Given the description of an element on the screen output the (x, y) to click on. 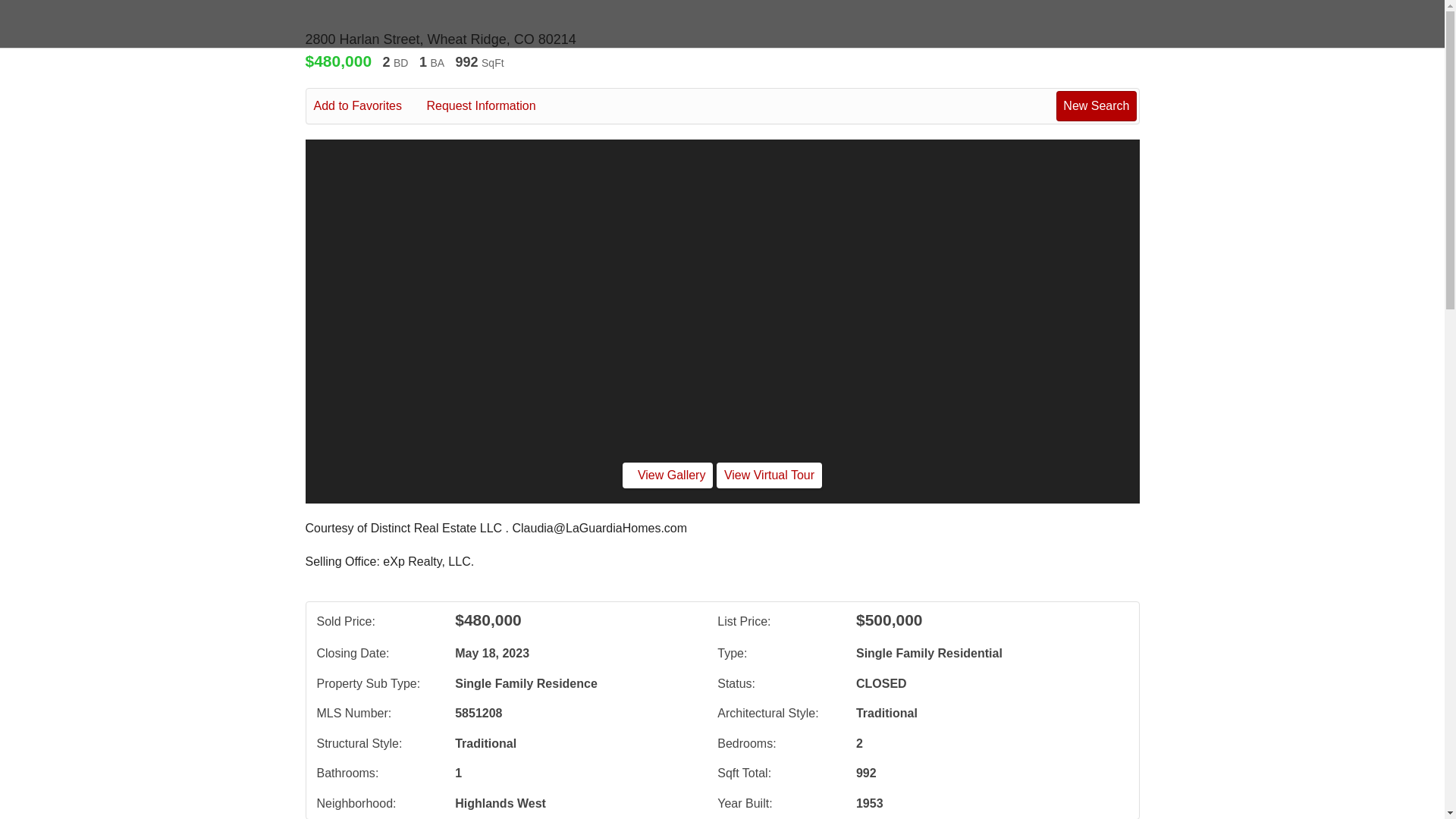
Request Information (491, 106)
View Gallery (668, 475)
Add to Favorites (368, 106)
View Virtual Tour (769, 475)
View Gallery (668, 474)
New Search (1096, 105)
View Virtual Tour (769, 474)
